Given the description of an element on the screen output the (x, y) to click on. 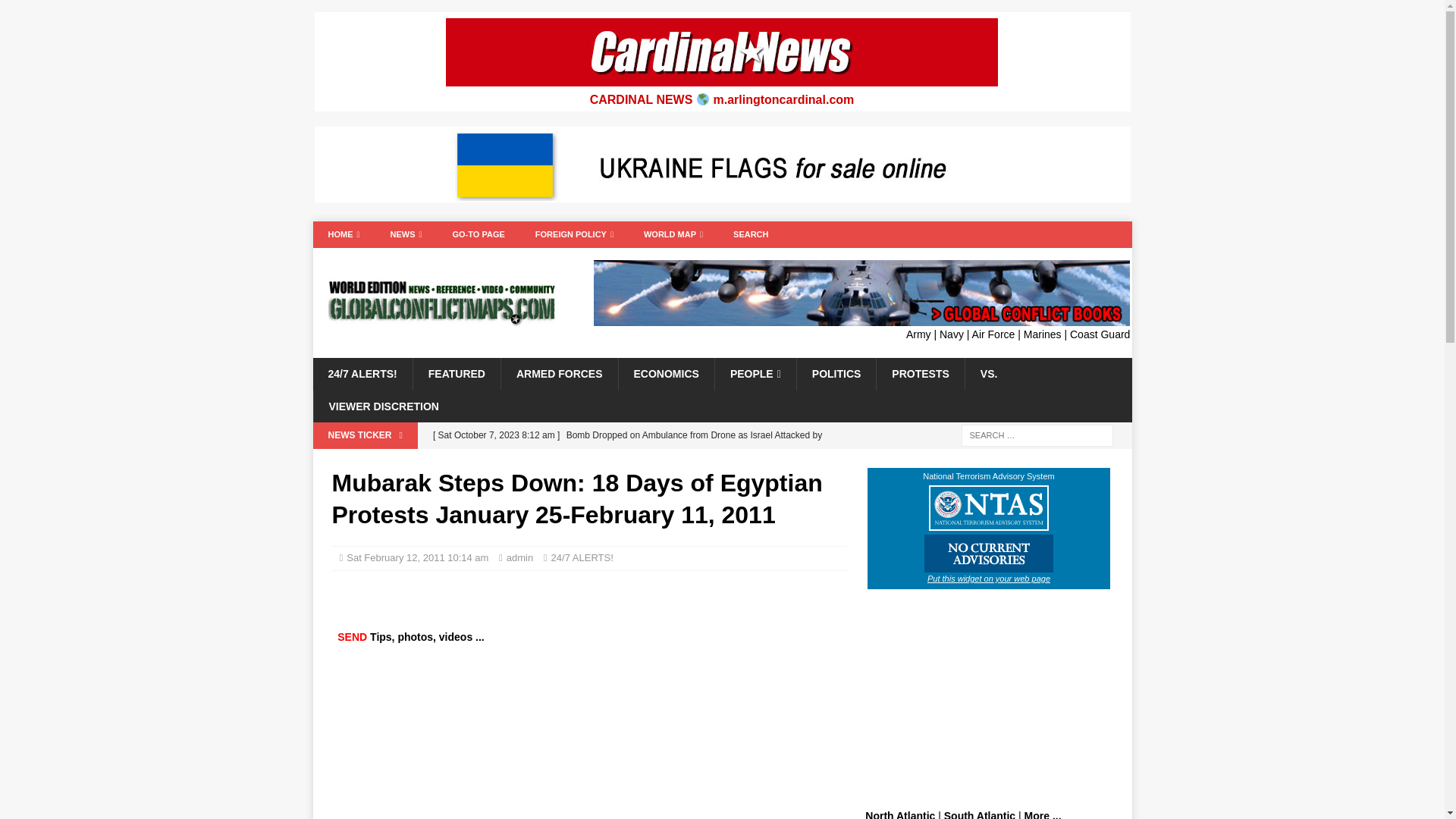
HOME (343, 234)
CARDINAL NEWS m.arlingtoncardinal.com (721, 100)
NEWS (406, 234)
YouTube video player (557, 740)
